Given the description of an element on the screen output the (x, y) to click on. 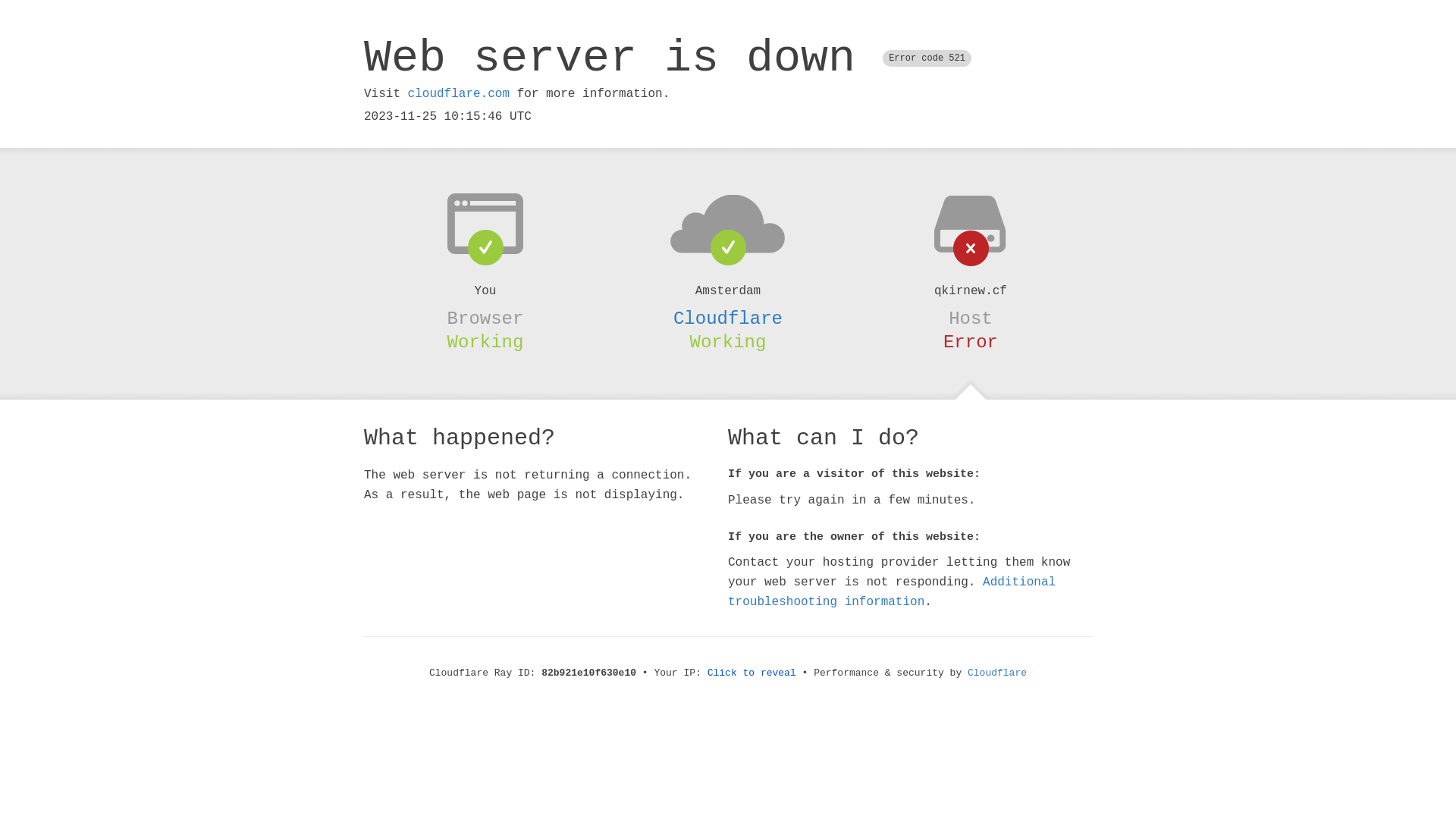
Cloudflare Element type: text (996, 672)
Additional troubleshooting information Element type: text (891, 591)
Cloudflare Element type: text (727, 318)
cloudflare.com Element type: text (458, 93)
Click to reveal Element type: text (751, 672)
